Given the description of an element on the screen output the (x, y) to click on. 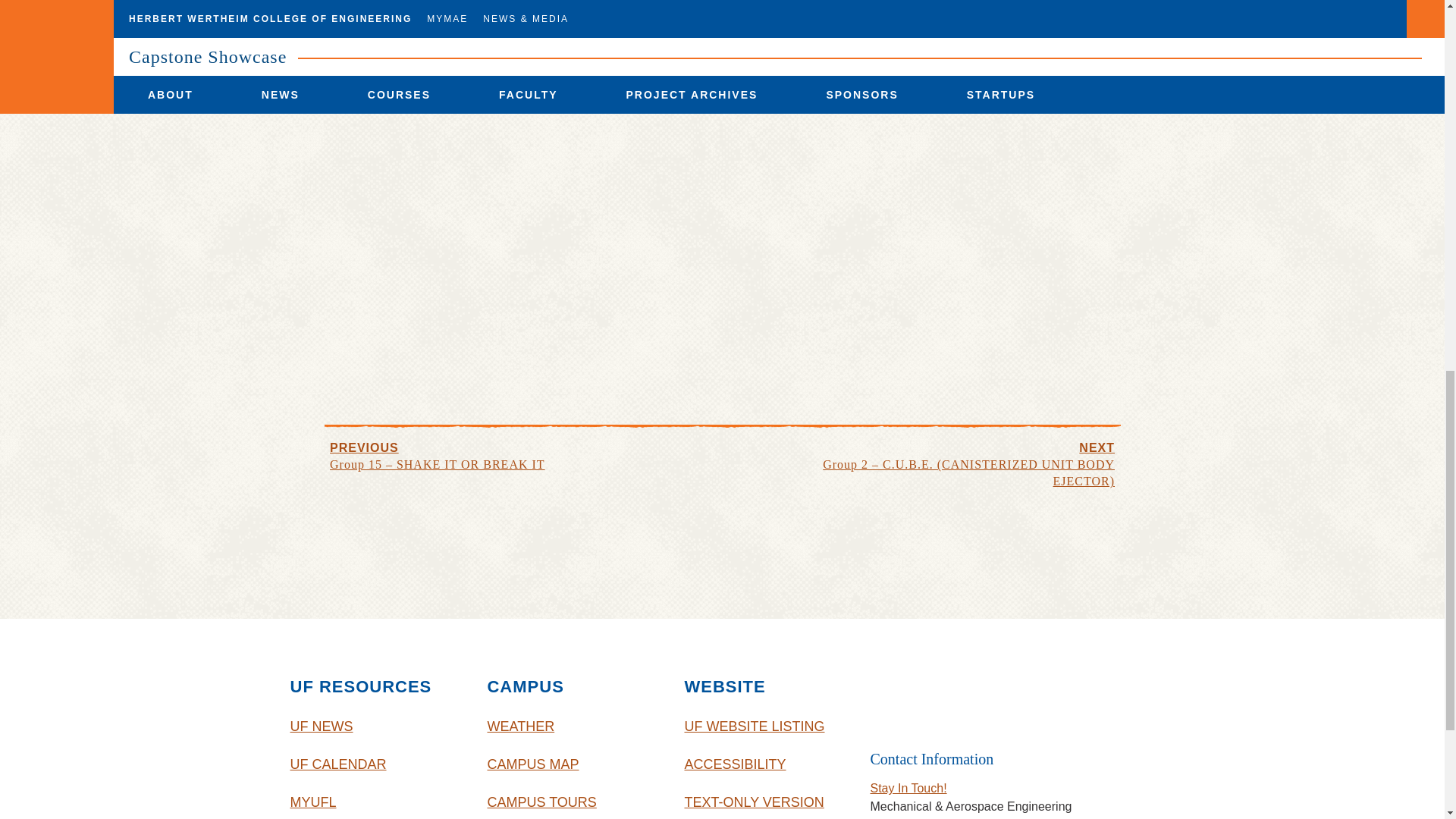
UF WEBSITE LISTING (771, 726)
University of Florida (992, 697)
CAMPUS MAP (573, 763)
Stay In Touch! (908, 788)
CAMPUS TOURS (573, 800)
MYUFL (376, 800)
ACCESSIBILITY (771, 763)
UF NEWS (376, 726)
WEATHER (573, 726)
